Given the description of an element on the screen output the (x, y) to click on. 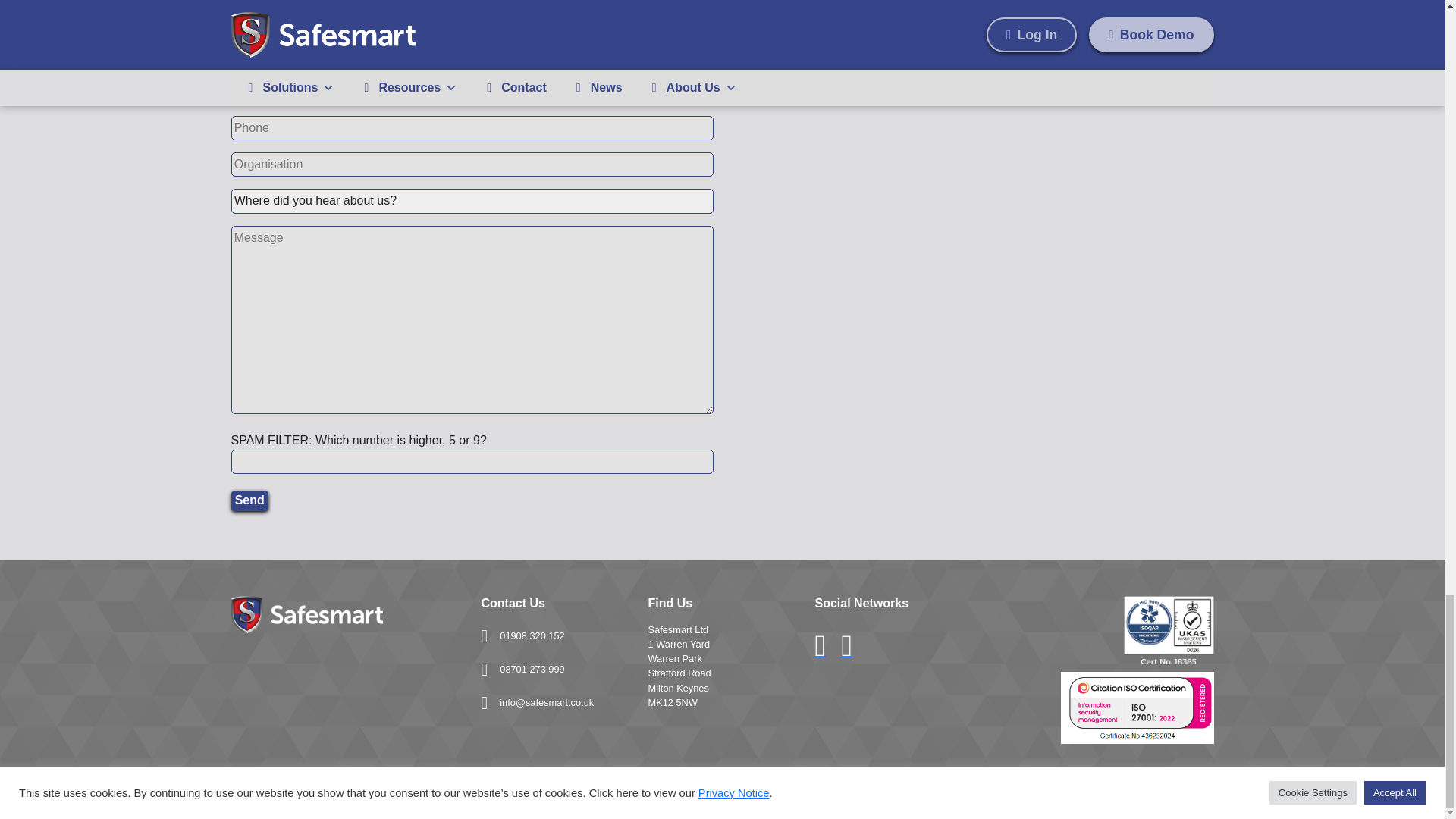
Send (248, 500)
